Given the description of an element on the screen output the (x, y) to click on. 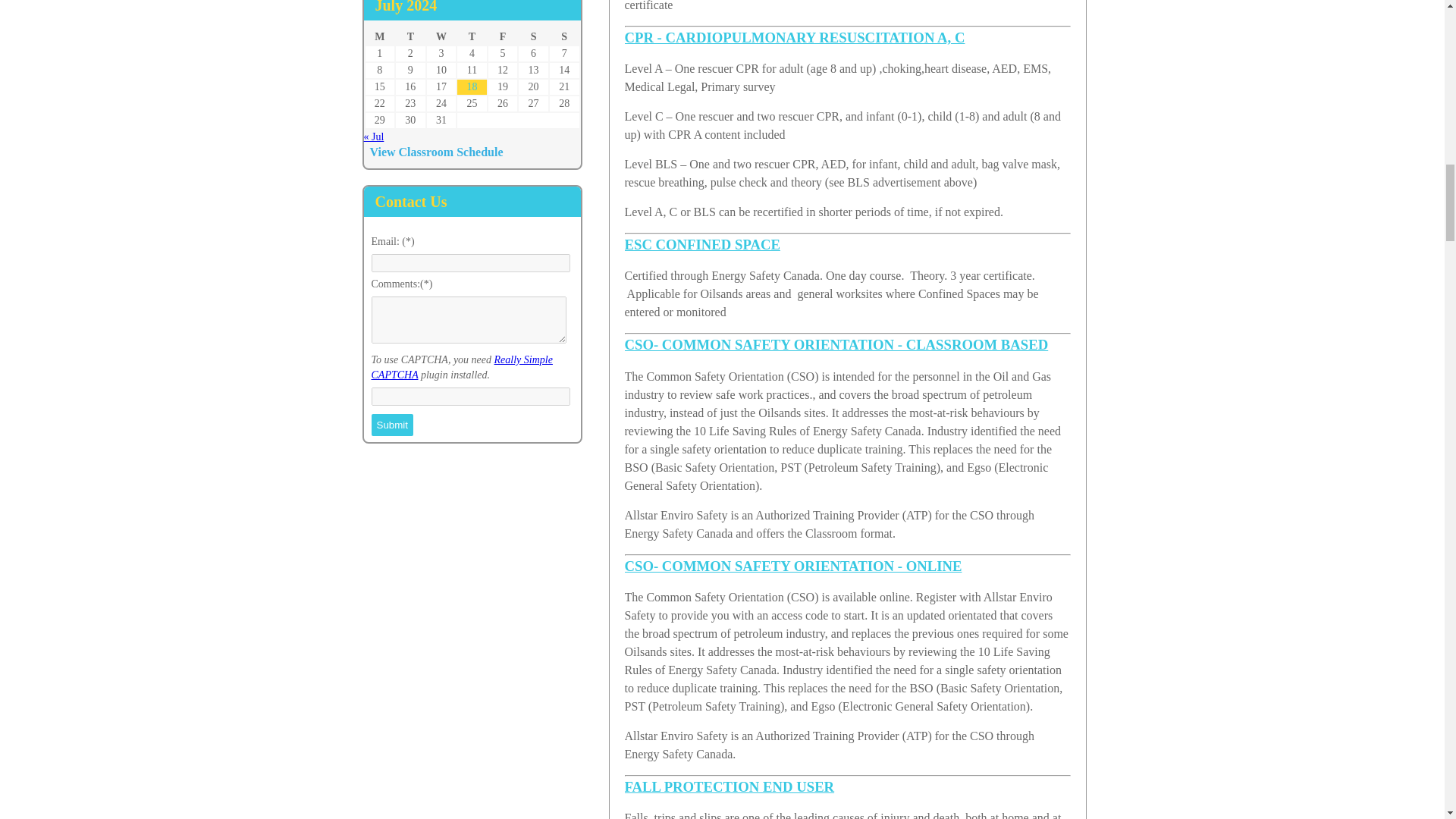
Tuesday (410, 37)
Thursday (471, 37)
Saturday (533, 37)
Monday (379, 37)
Sunday (564, 37)
Friday (502, 37)
Wednesday (441, 37)
Submit (392, 424)
